Given the description of an element on the screen output the (x, y) to click on. 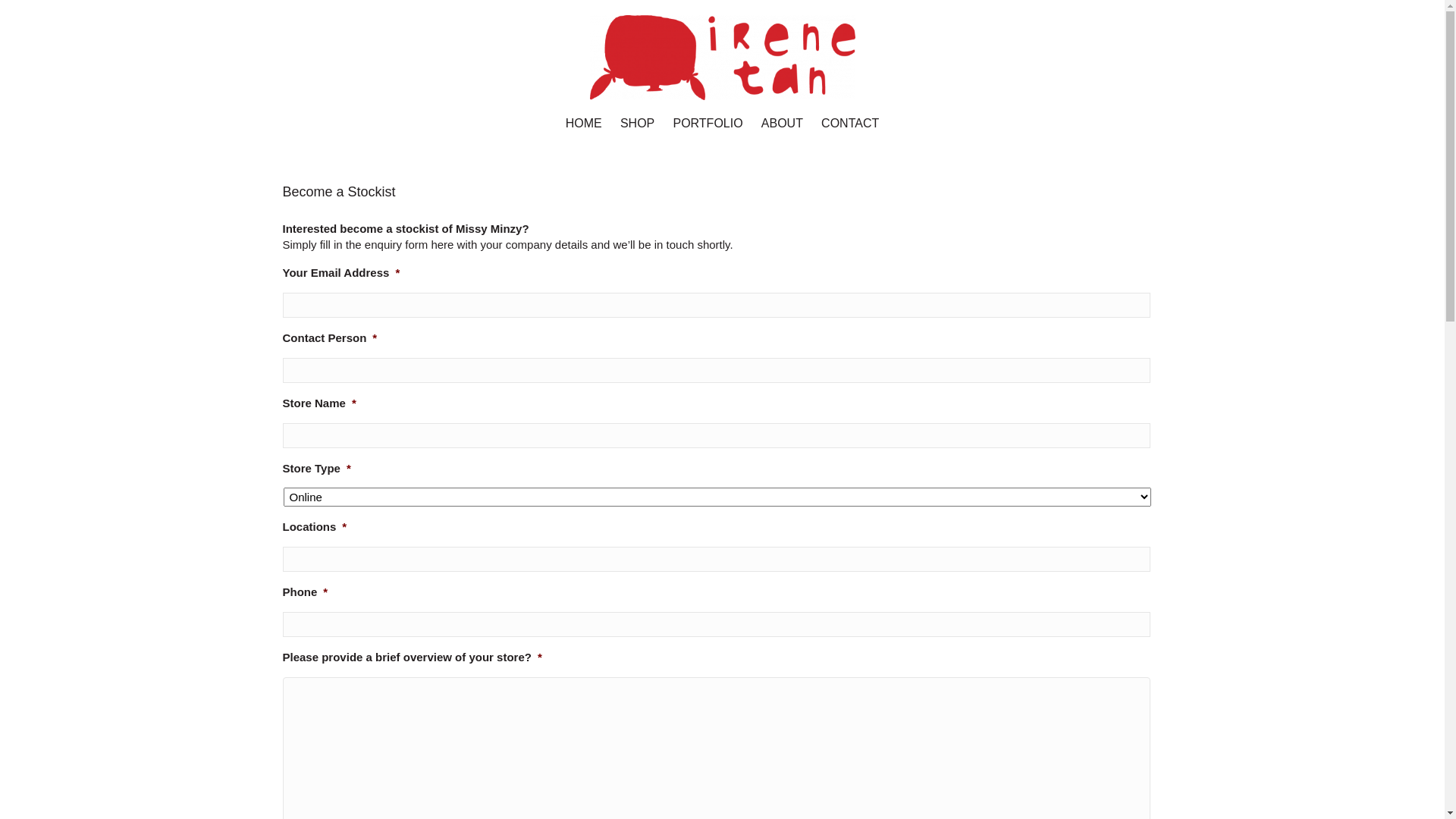
PORTFOLIO Element type: text (707, 130)
IreneTAN_Logo_Website_Red Element type: hover (722, 57)
HOME Element type: text (583, 130)
ABOUT Element type: text (781, 130)
SHOP Element type: text (637, 130)
CONTACT Element type: text (849, 130)
